Given the description of an element on the screen output the (x, y) to click on. 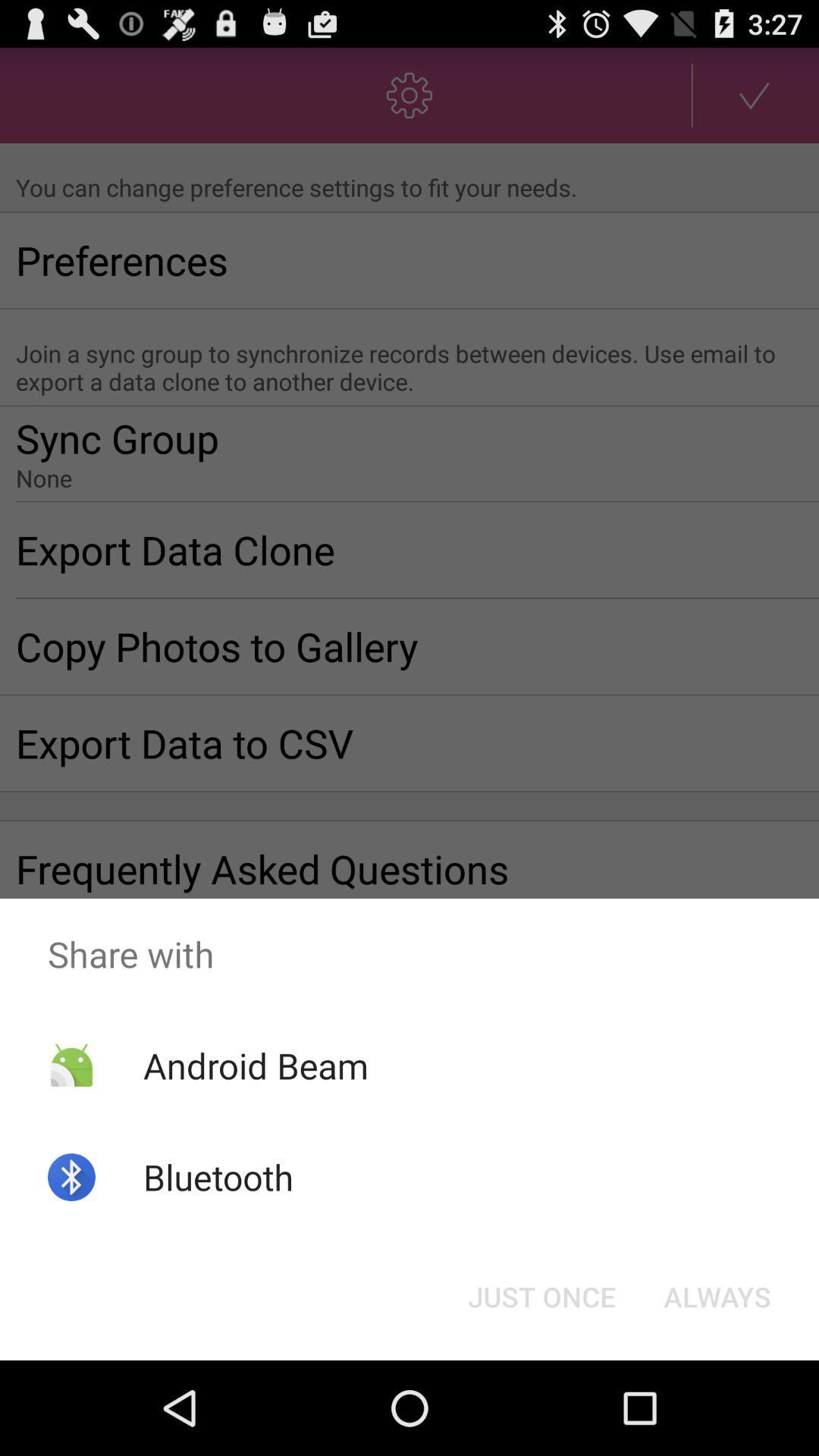
flip to the bluetooth app (218, 1176)
